Given the description of an element on the screen output the (x, y) to click on. 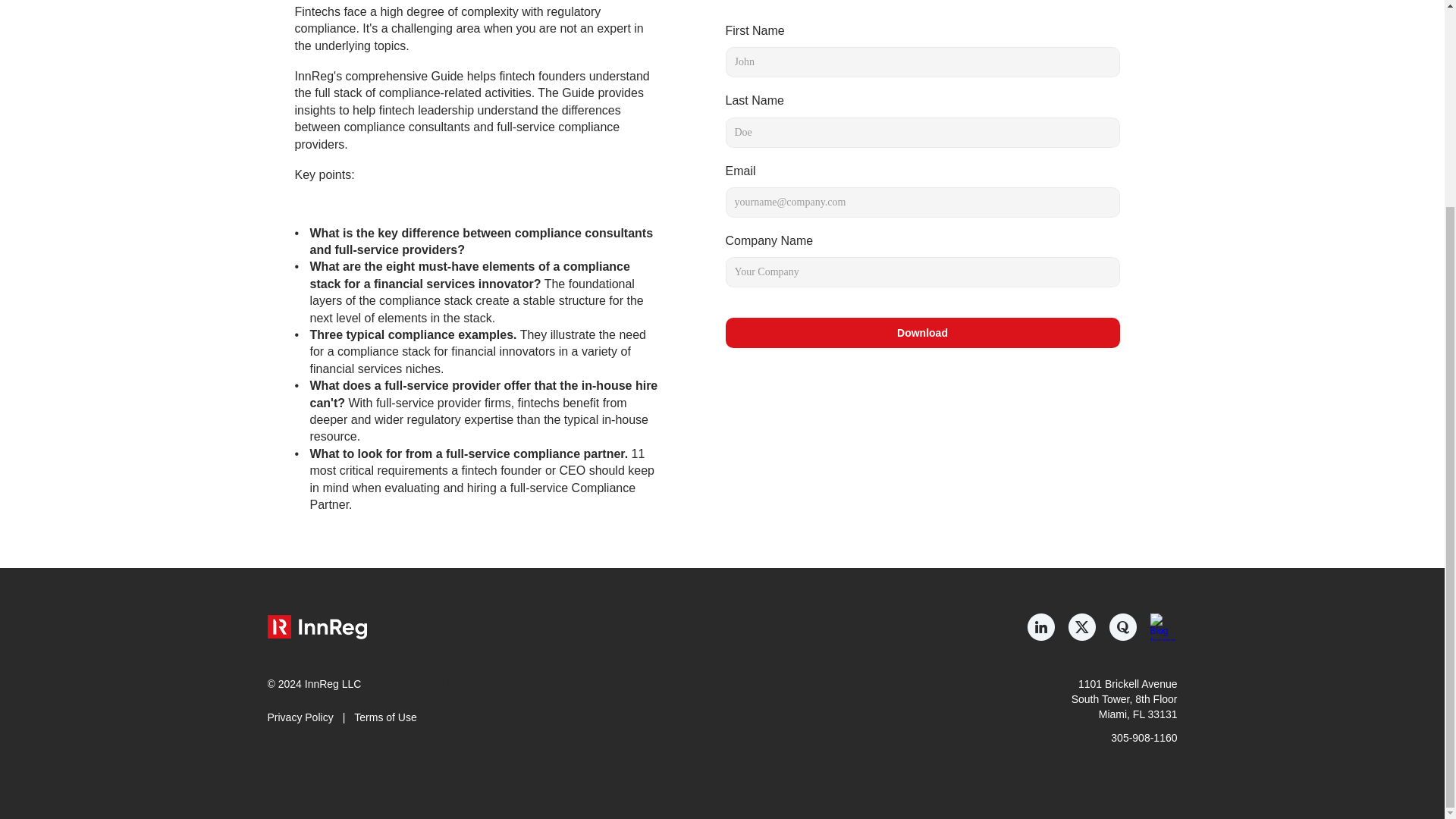
Download (922, 332)
305-908-1160 (1143, 737)
Cookie Settings (411, 684)
Privacy Policy (299, 717)
Terms of Use (384, 717)
